Given the description of an element on the screen output the (x, y) to click on. 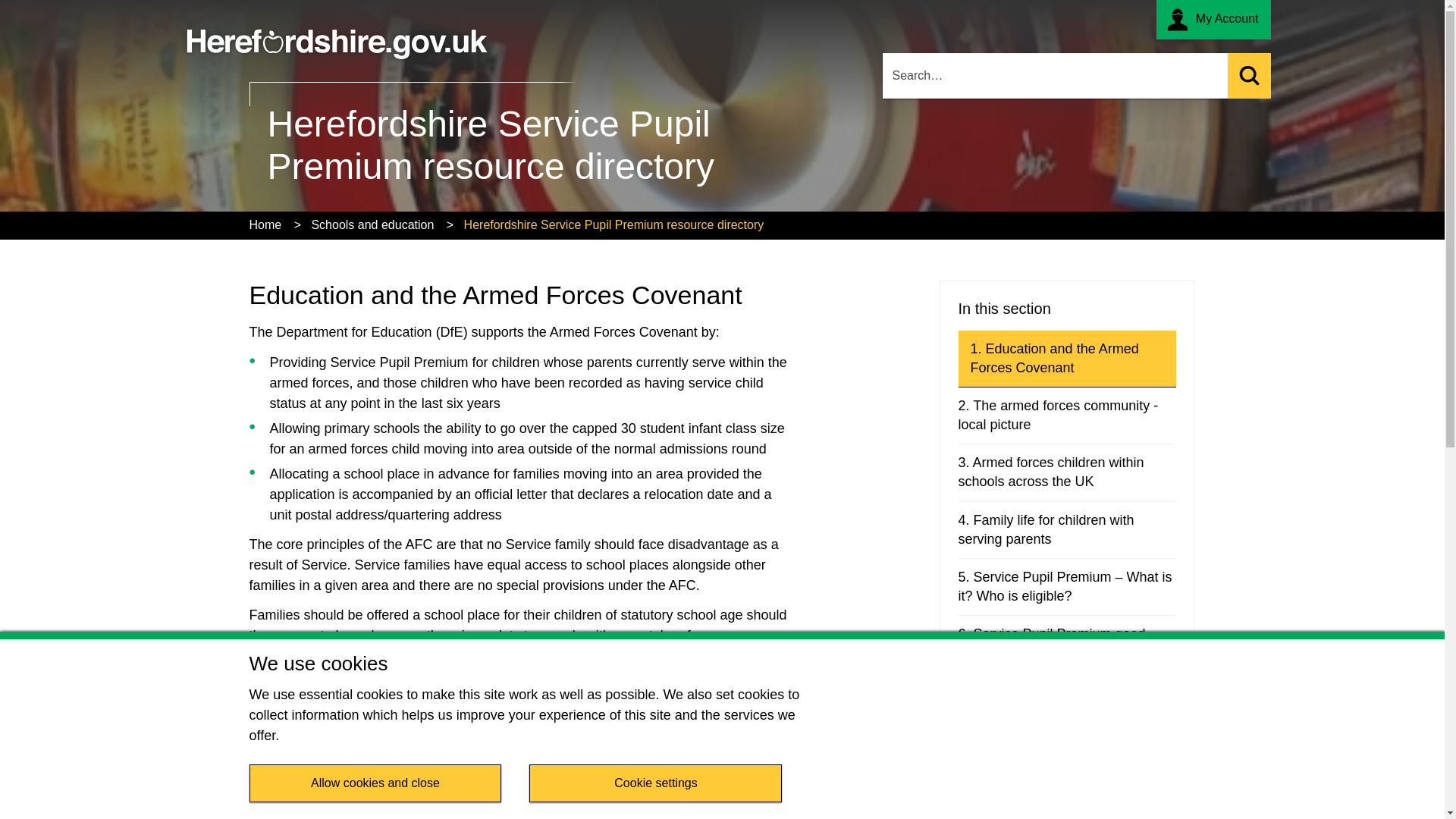
Service Pupil Premium information for schools (1067, 758)
Get information from gov.uk about Herefordshire schools (440, 795)
Cookie settings (655, 783)
Search (1248, 75)
Allow cookies and close (374, 783)
Family life for children with serving parents (1067, 529)
Higher education and service children (1067, 701)
Home (264, 225)
Herefordshire Council (337, 35)
The armed forces community - local picture (1067, 415)
